Given the description of an element on the screen output the (x, y) to click on. 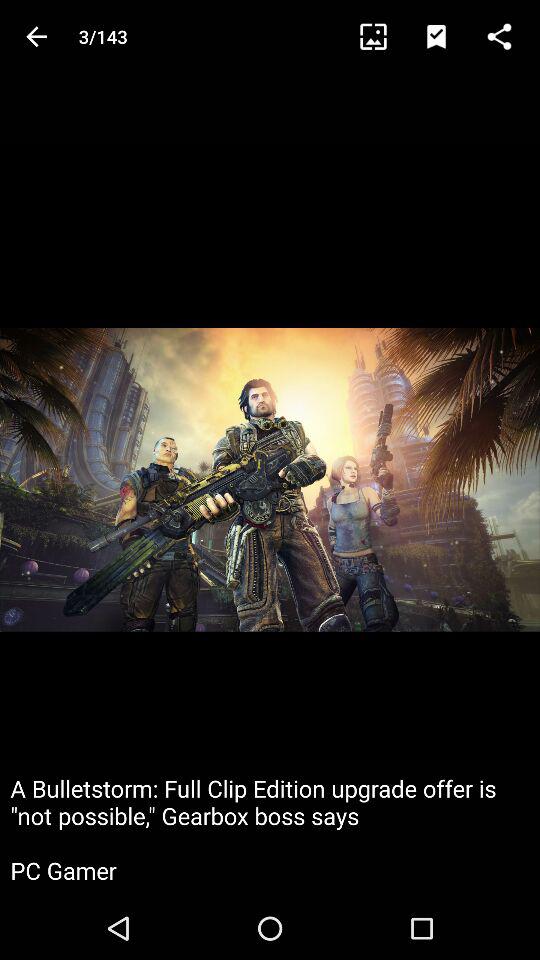
click the item above the a bulletstorm full item (381, 36)
